Given the description of an element on the screen output the (x, y) to click on. 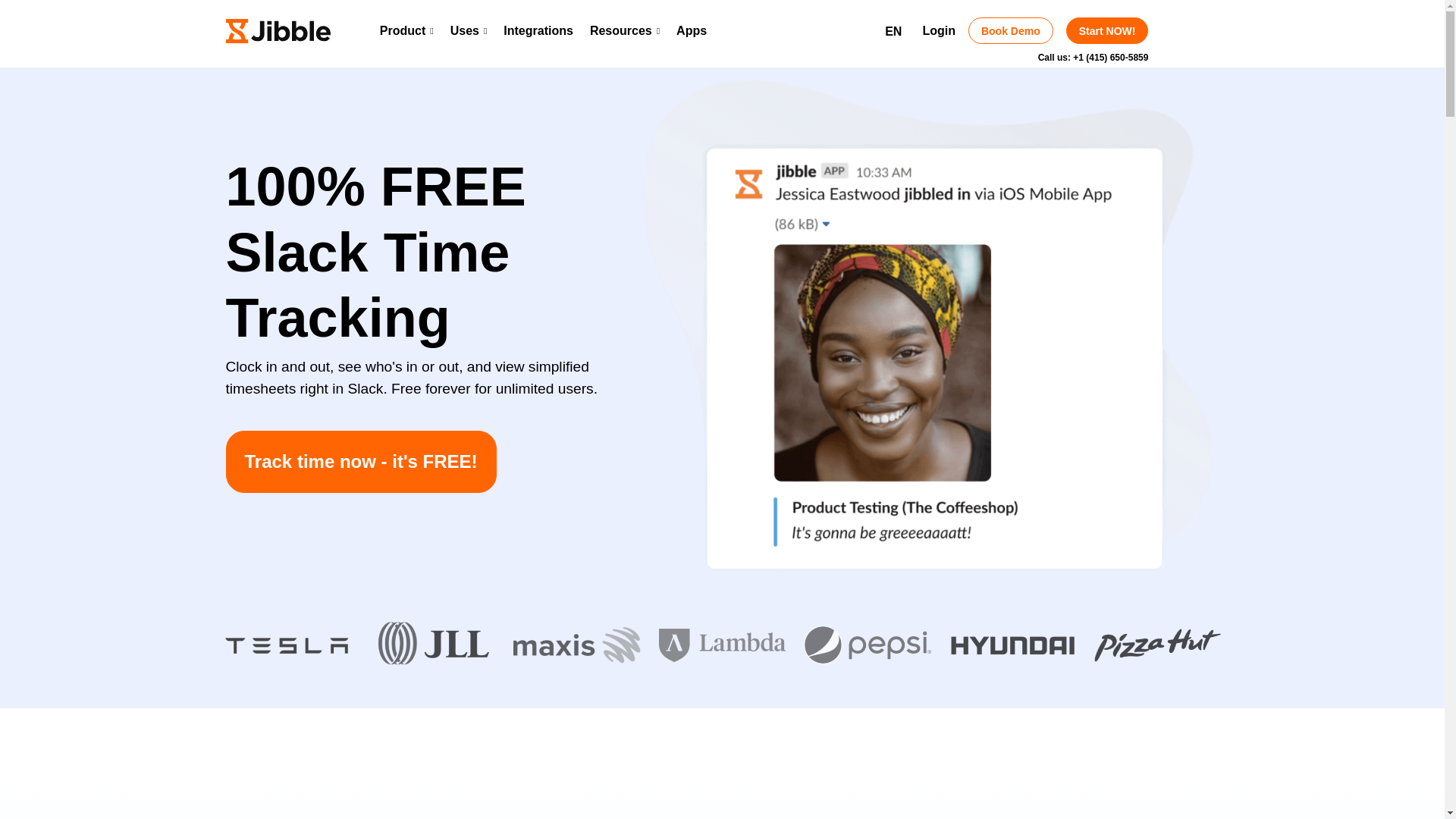
pizza-hut (1157, 644)
lambda-inc (722, 644)
hyundai (1012, 644)
maxis (576, 644)
jll (431, 644)
Uses (468, 30)
pepsi (866, 644)
Jibble (277, 30)
tesla-logo (285, 645)
Product (406, 30)
